Given the description of an element on the screen output the (x, y) to click on. 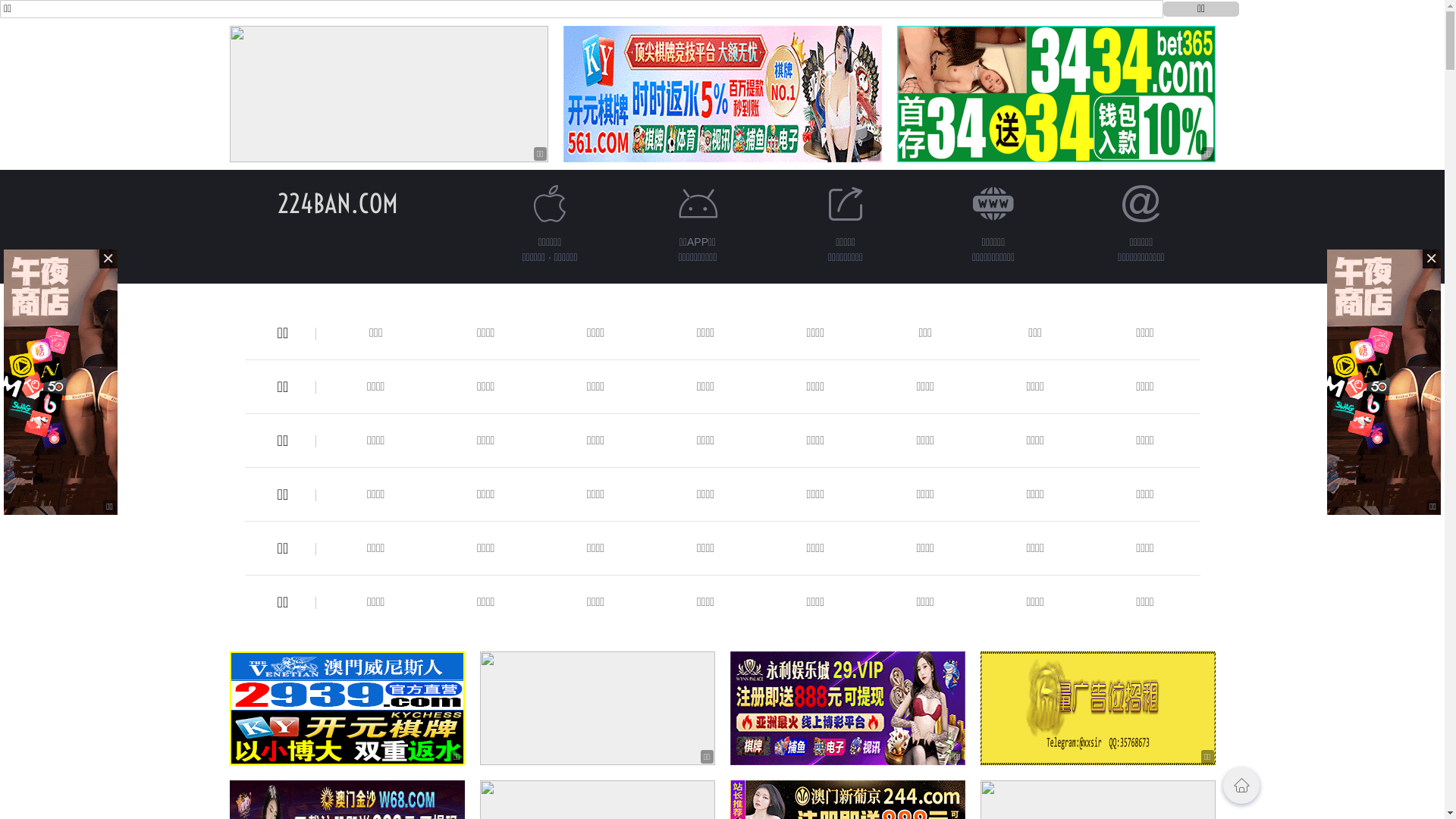
224BAN.COM Element type: text (337, 203)
